Given the description of an element on the screen output the (x, y) to click on. 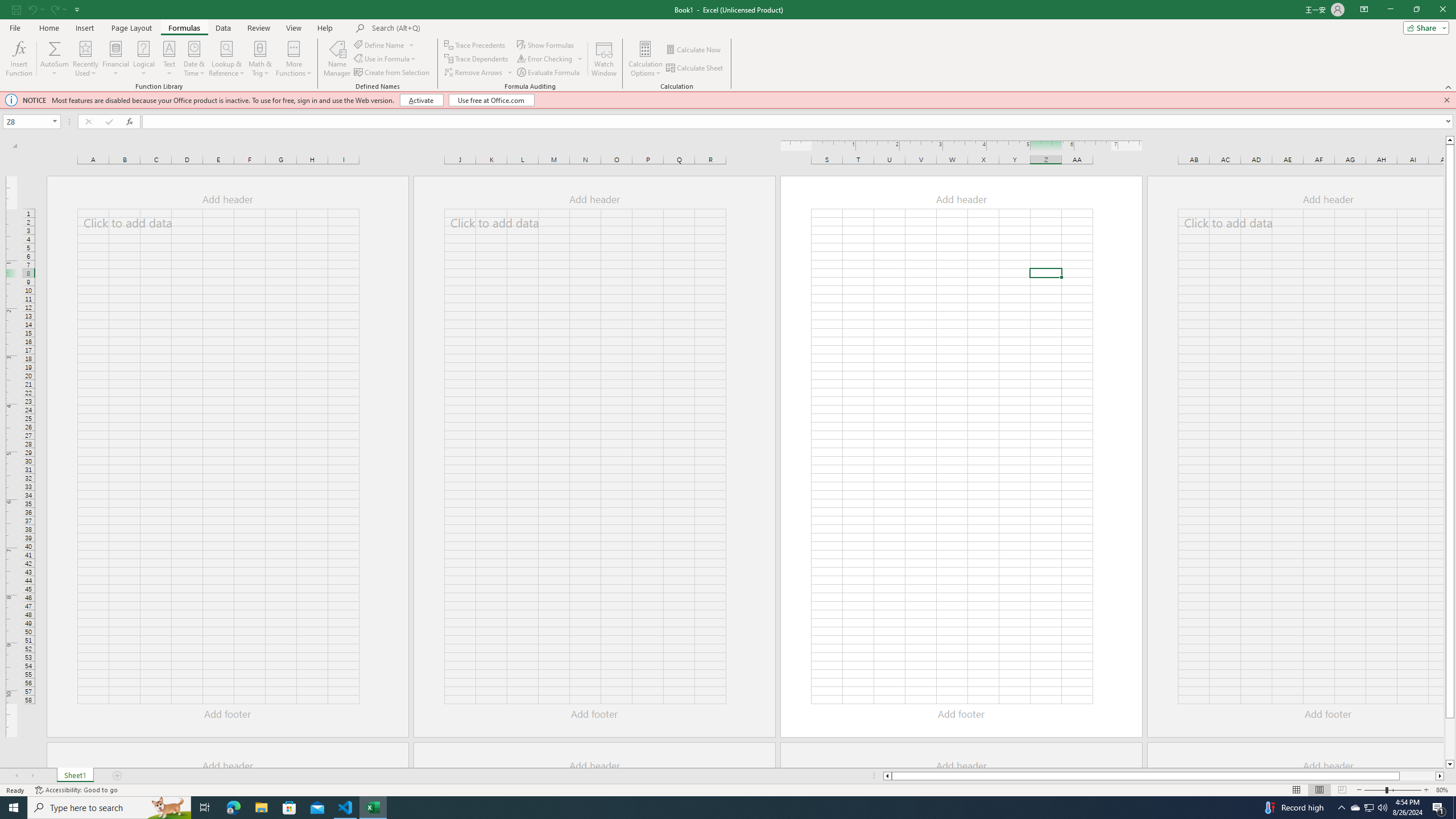
Create from Selection... (392, 72)
Sum (54, 48)
AutoSum (54, 58)
More Functions (294, 58)
